Given the description of an element on the screen output the (x, y) to click on. 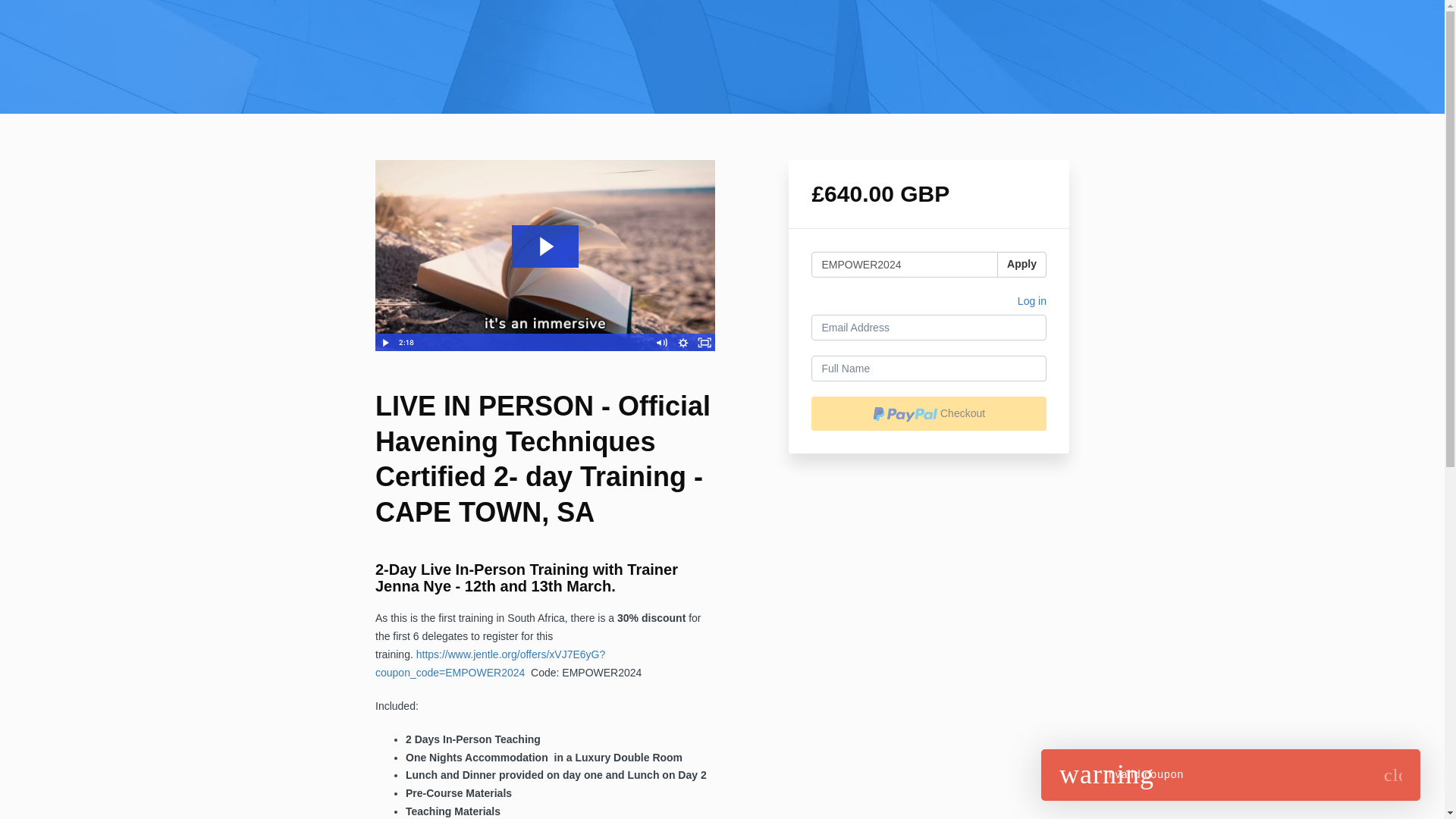
Show settings menu (683, 342)
Mute (661, 342)
Play Video (385, 342)
Log in (1031, 303)
PayPal (928, 413)
EMPOWER2024 (903, 264)
Apply (1021, 264)
Fullscreen (704, 342)
